Given the description of an element on the screen output the (x, y) to click on. 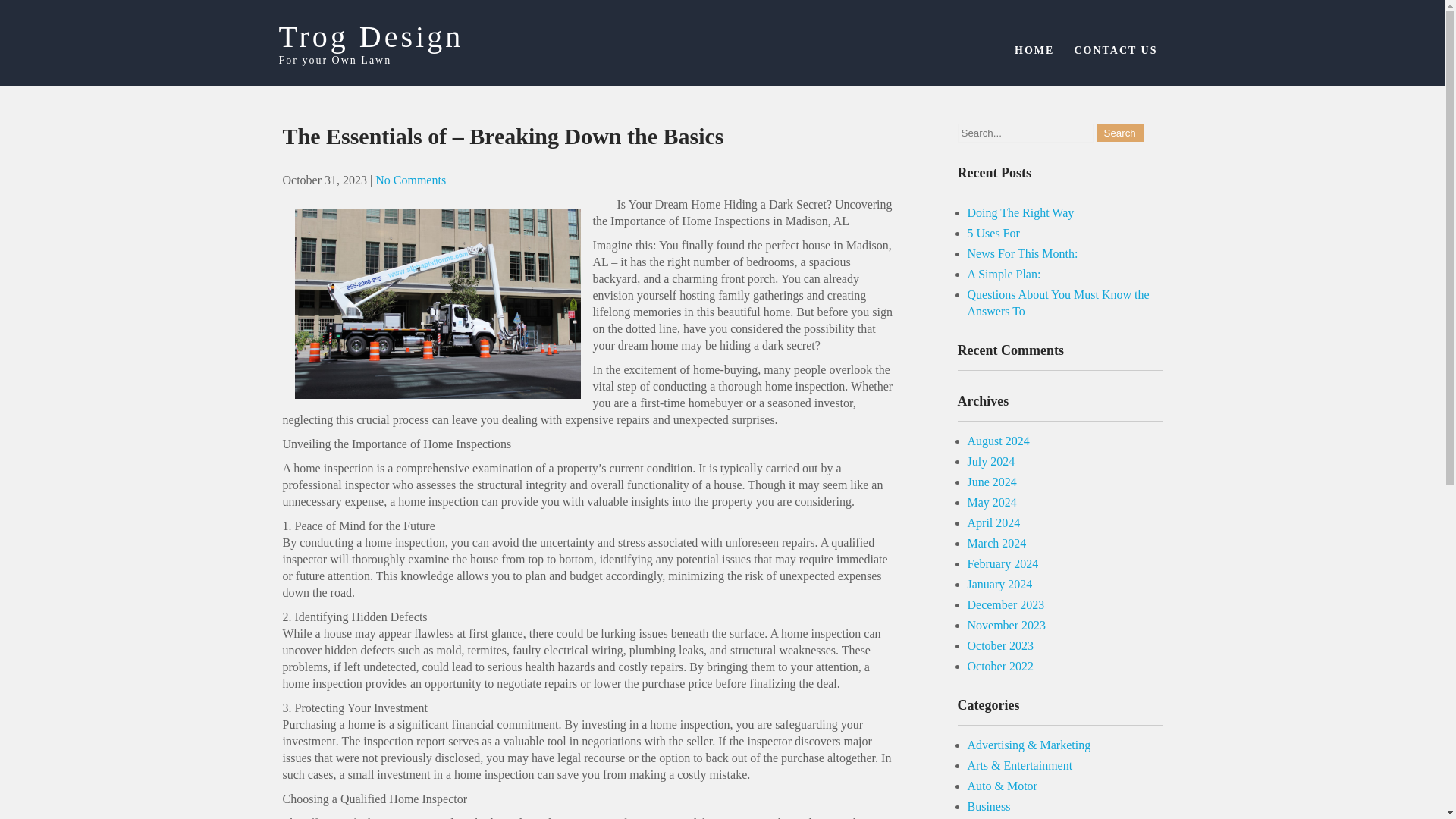
Business (989, 806)
June 2024 (992, 481)
HOME (1034, 50)
Search (1119, 132)
Questions About You Must Know the Answers To (1059, 302)
Search (1119, 132)
News For This Month: (1023, 253)
August 2024 (998, 440)
5 Uses For (994, 232)
February 2024 (1003, 563)
